Given the description of an element on the screen output the (x, y) to click on. 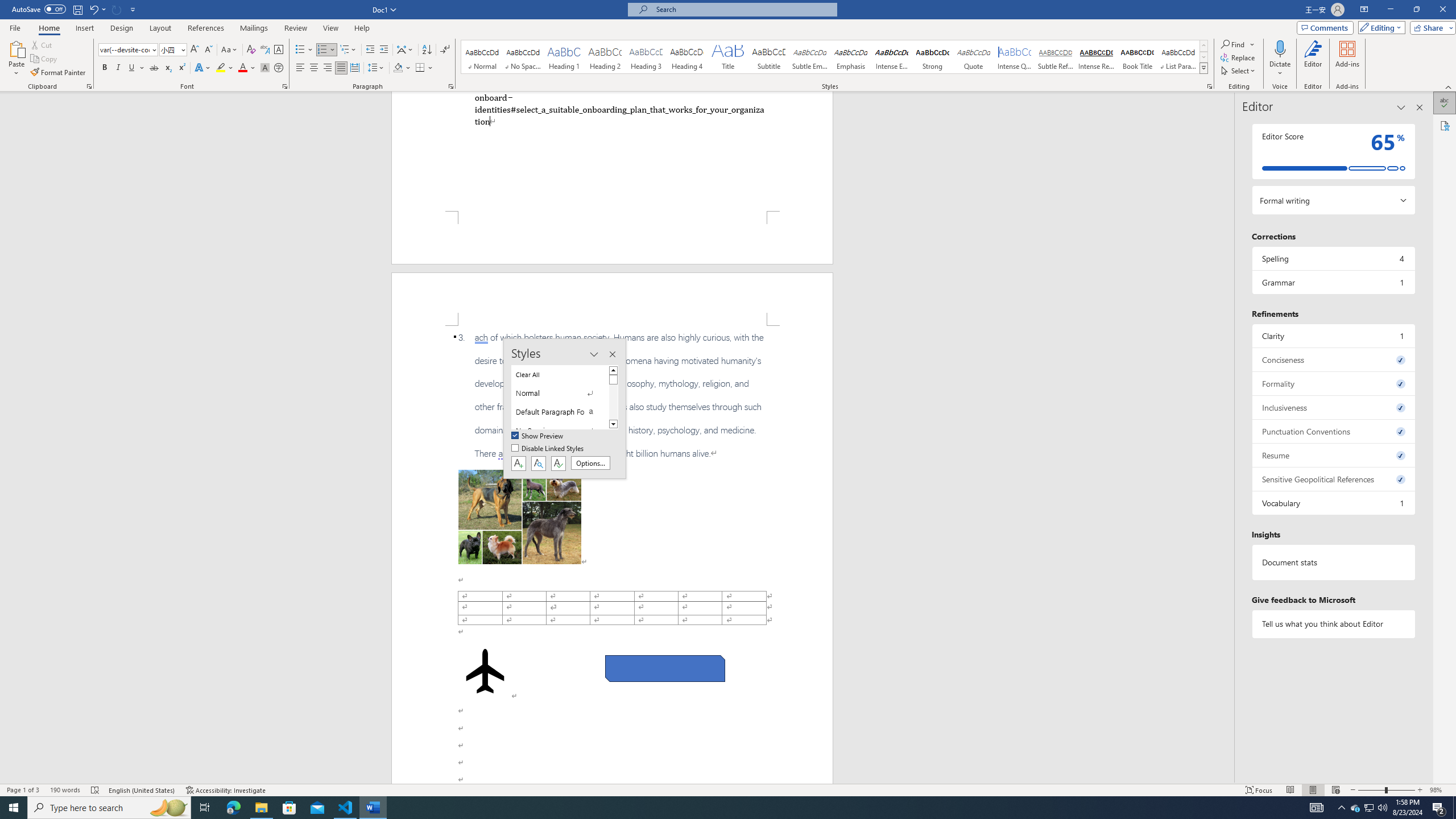
Collapse the Ribbon (1448, 86)
Footer -Section 1- (611, 237)
Close pane (1419, 107)
Paste (16, 58)
Text Effects and Typography (202, 67)
Page 2 content (611, 554)
Accessibility (1444, 125)
Read Mode (1290, 790)
Find (1232, 44)
Borders (419, 67)
Numbering (322, 49)
Select (1238, 69)
Dictate (1280, 58)
Heading 2 (605, 56)
